Given the description of an element on the screen output the (x, y) to click on. 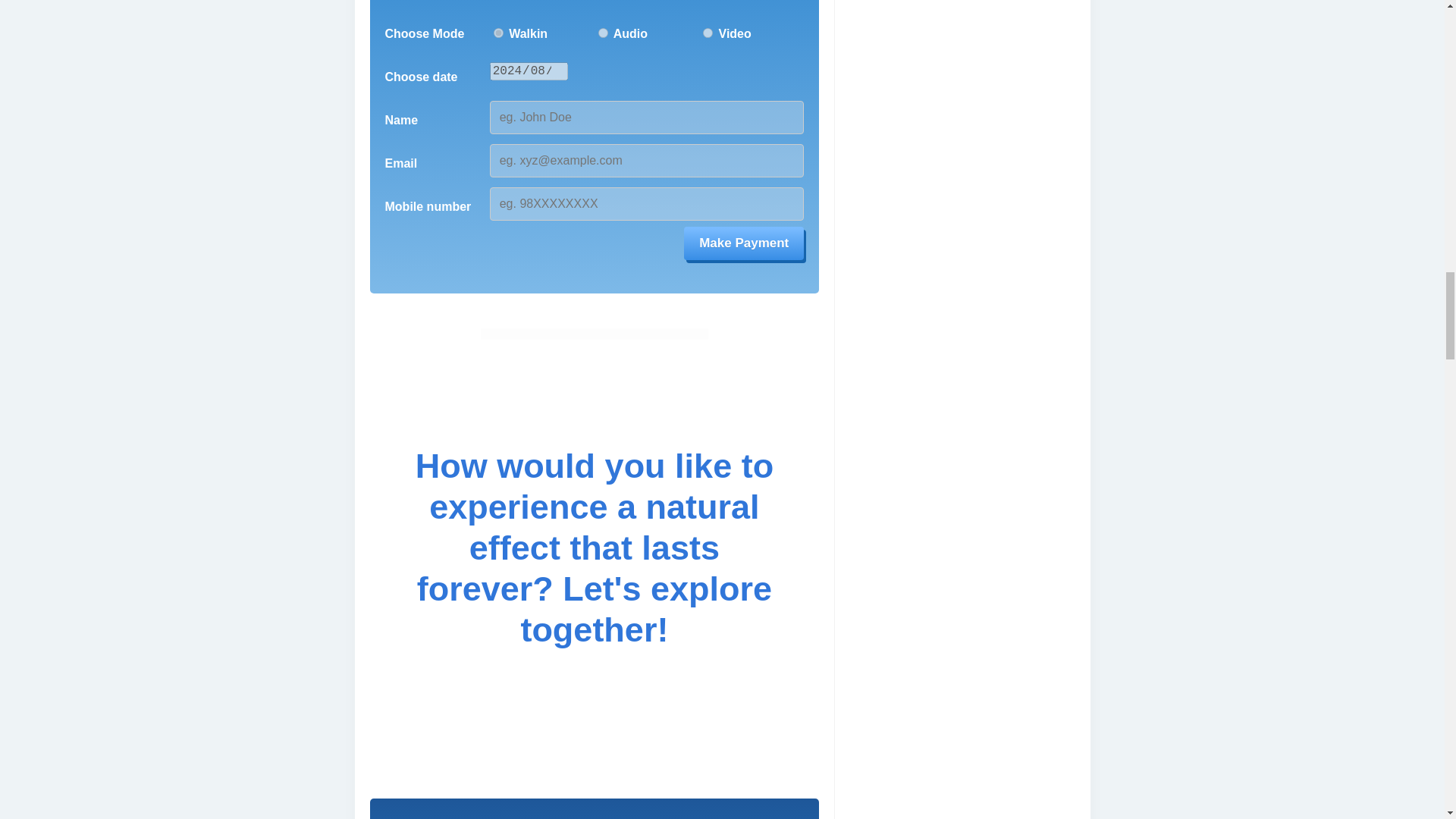
Video (708, 32)
Make Payment (743, 243)
Audio (603, 32)
Walkin (498, 32)
2024-08-17 (529, 71)
